Given the description of an element on the screen output the (x, y) to click on. 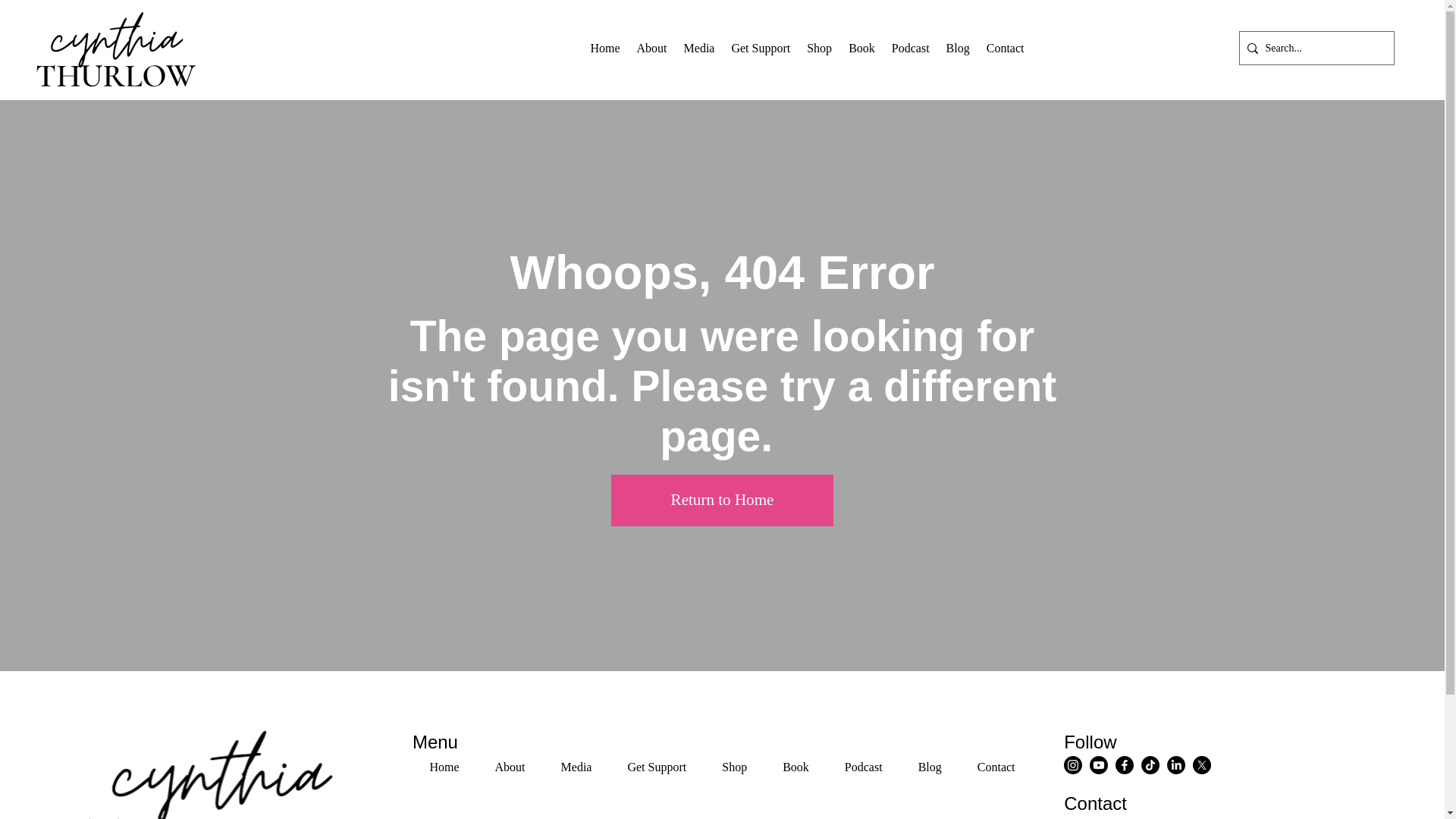
Shop (819, 48)
Media (699, 48)
About (651, 48)
Book (861, 48)
Blog (957, 48)
Return to Home (721, 500)
About (509, 766)
Home (882, 48)
Podcast (444, 766)
